Given the description of an element on the screen output the (x, y) to click on. 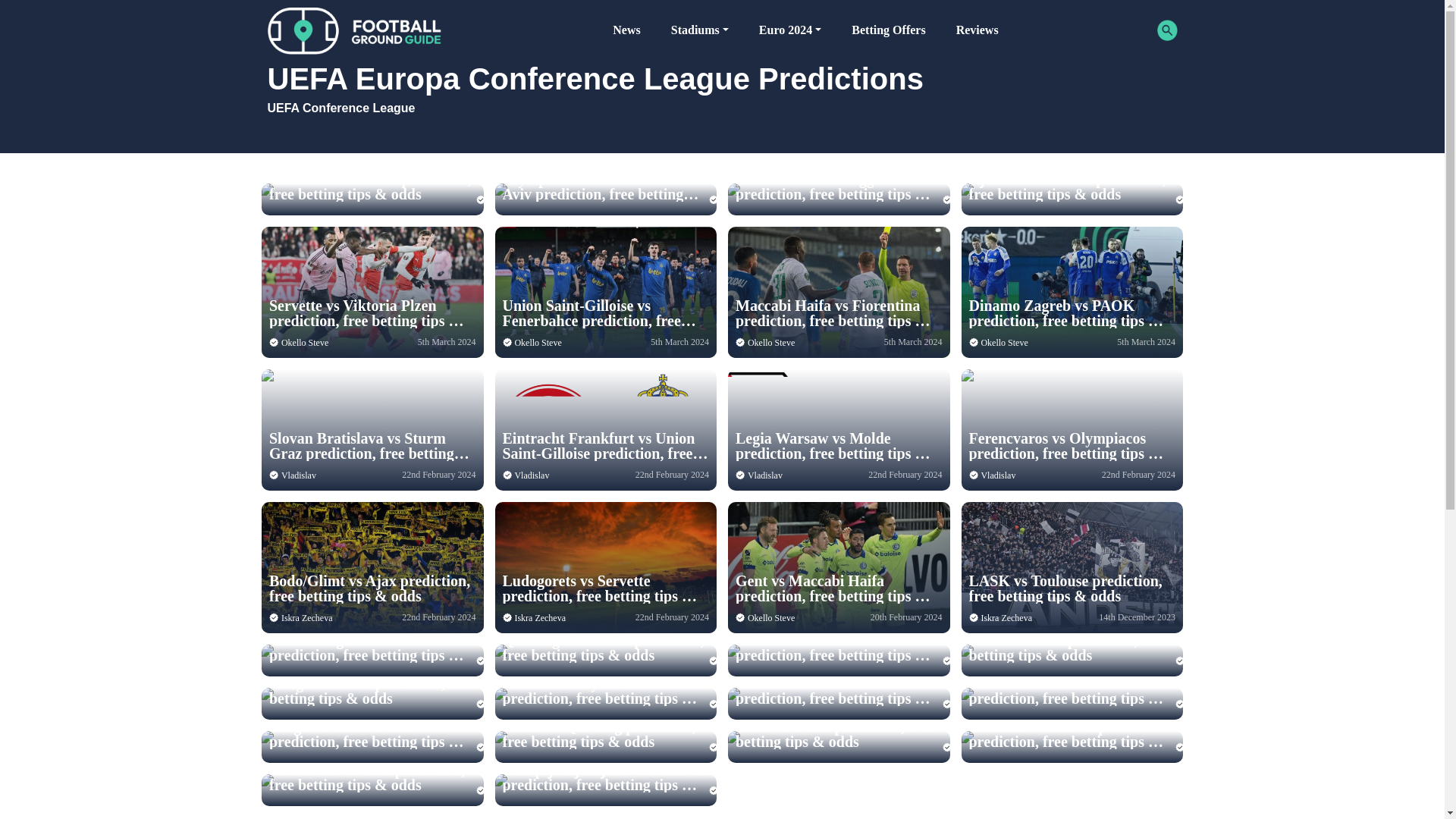
Okello Steve (536, 342)
Football Ground Guide (354, 30)
Euro 2024 (789, 30)
Stadiums (700, 30)
Okello Steve (771, 342)
Betting Offers (887, 30)
News (625, 30)
Reviews (976, 30)
News (625, 30)
